Given the description of an element on the screen output the (x, y) to click on. 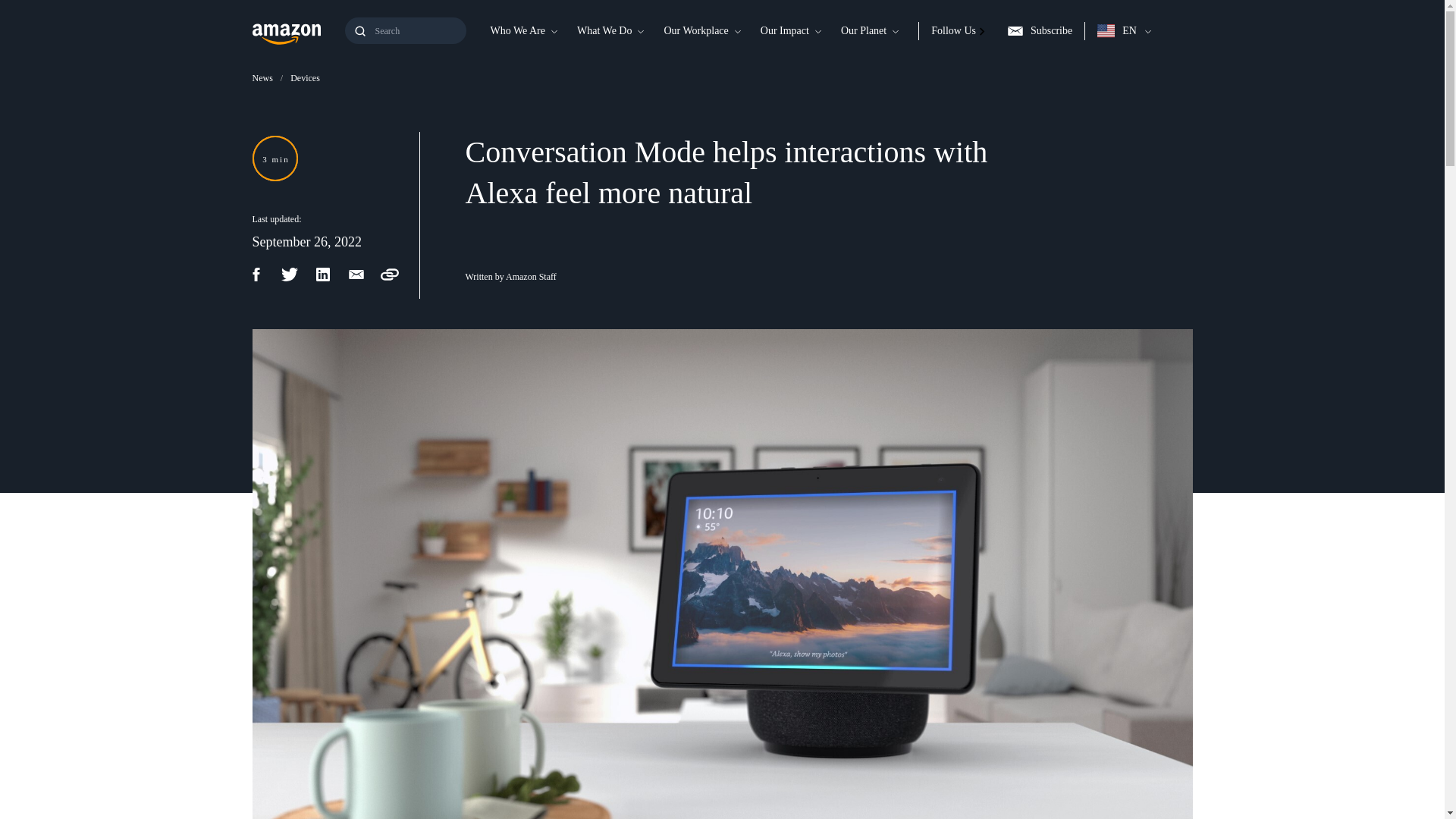
email (363, 274)
What We Do (603, 30)
LinkedIn Share (330, 274)
Twitter Share (297, 274)
Our Workplace (694, 30)
Who We Are (516, 30)
Our Impact (784, 30)
Facebook Share (264, 274)
copy link (396, 274)
